Given the description of an element on the screen output the (x, y) to click on. 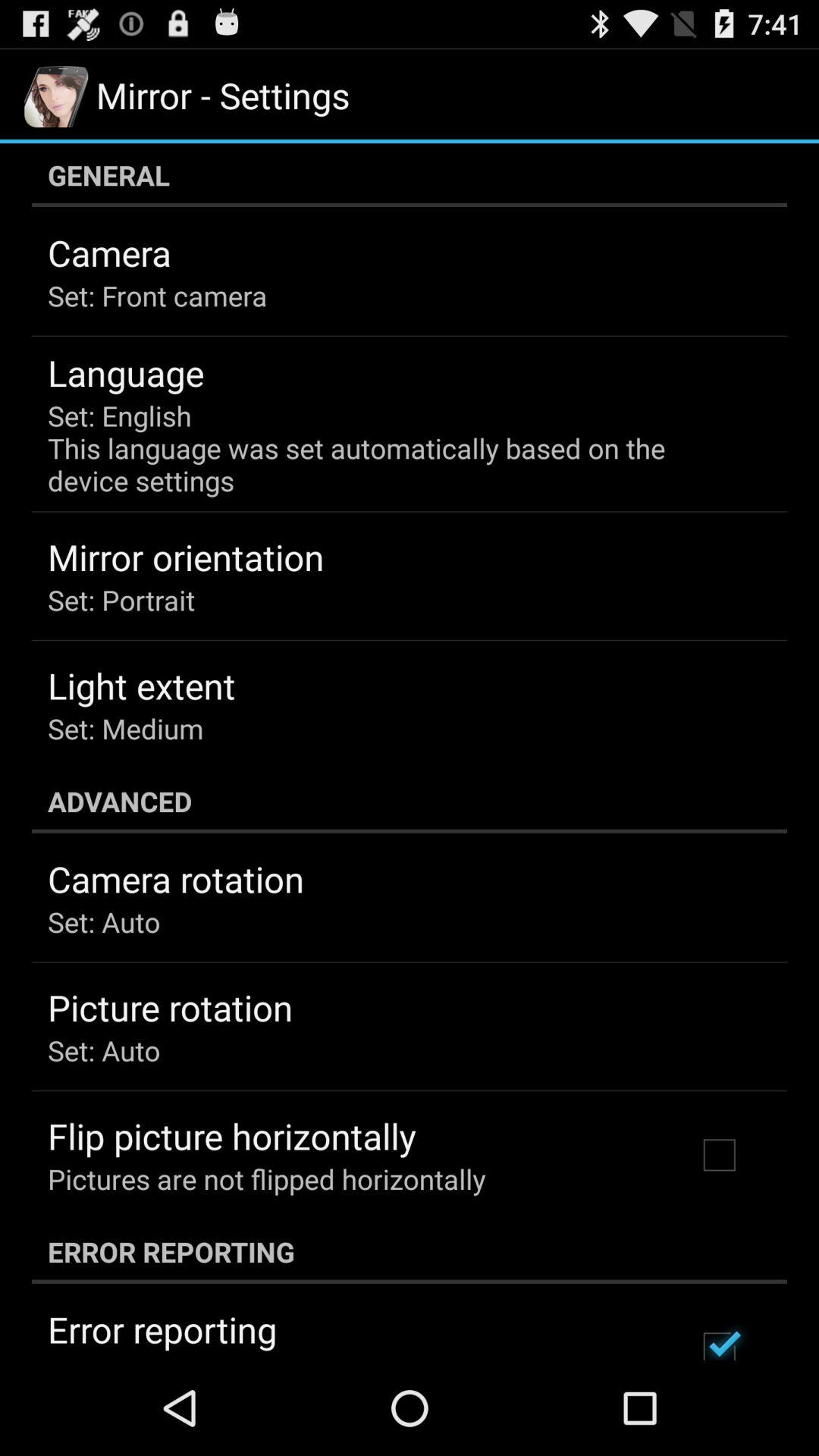
turn on icon below set english this item (185, 556)
